Given the description of an element on the screen output the (x, y) to click on. 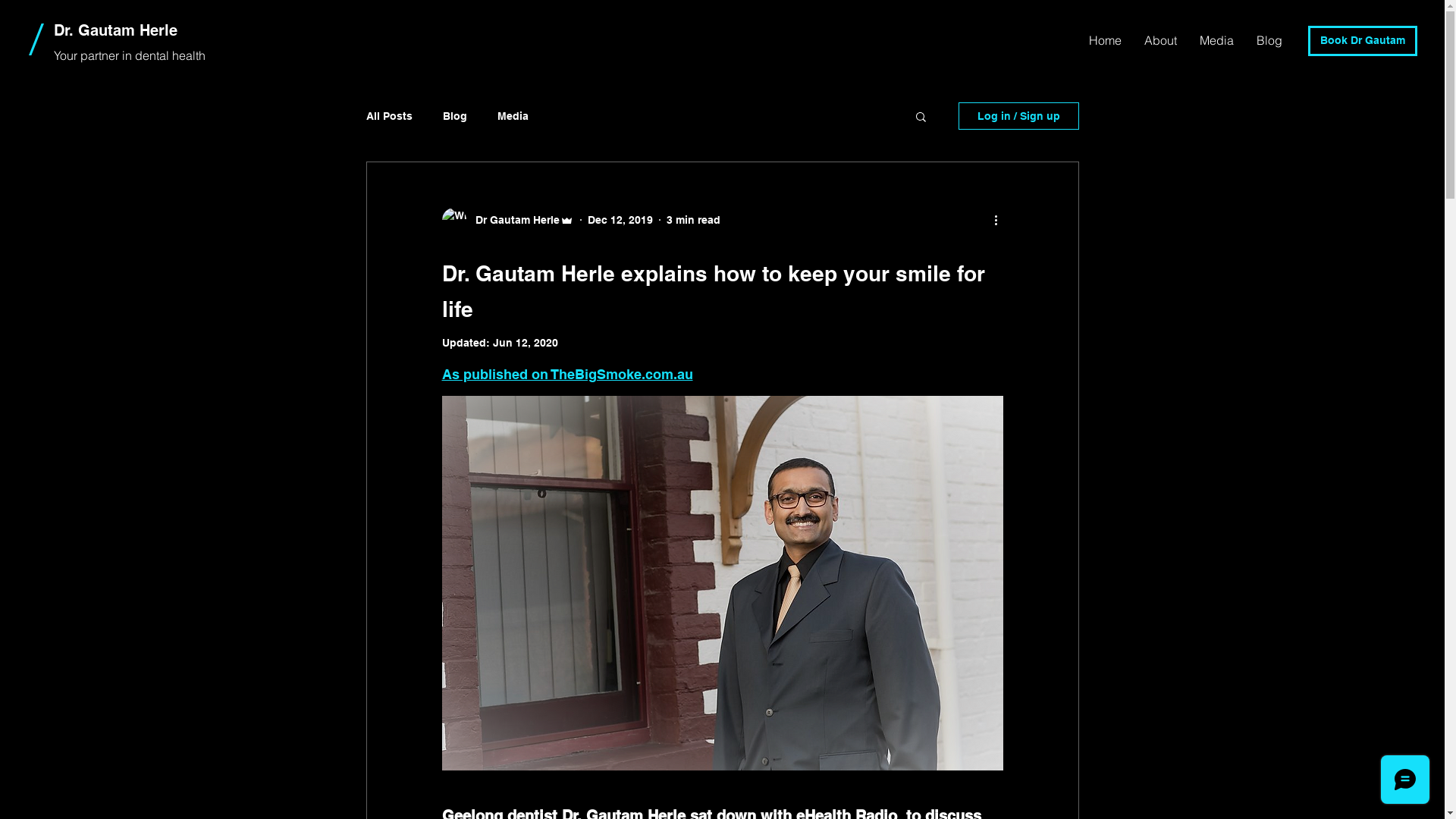
About Element type: text (1160, 40)
Media Element type: text (1216, 40)
As published on TheBigSmoke.com.au Element type: text (566, 374)
All Posts Element type: text (388, 115)
Media Element type: text (512, 115)
Log in / Sign up Element type: text (1018, 115)
Book Dr Gautam Element type: text (1362, 40)
Blog Element type: text (1269, 40)
Home Element type: text (1104, 40)
Dr. Gautam Herle Element type: text (115, 30)
Blog Element type: text (454, 115)
